Given the description of an element on the screen output the (x, y) to click on. 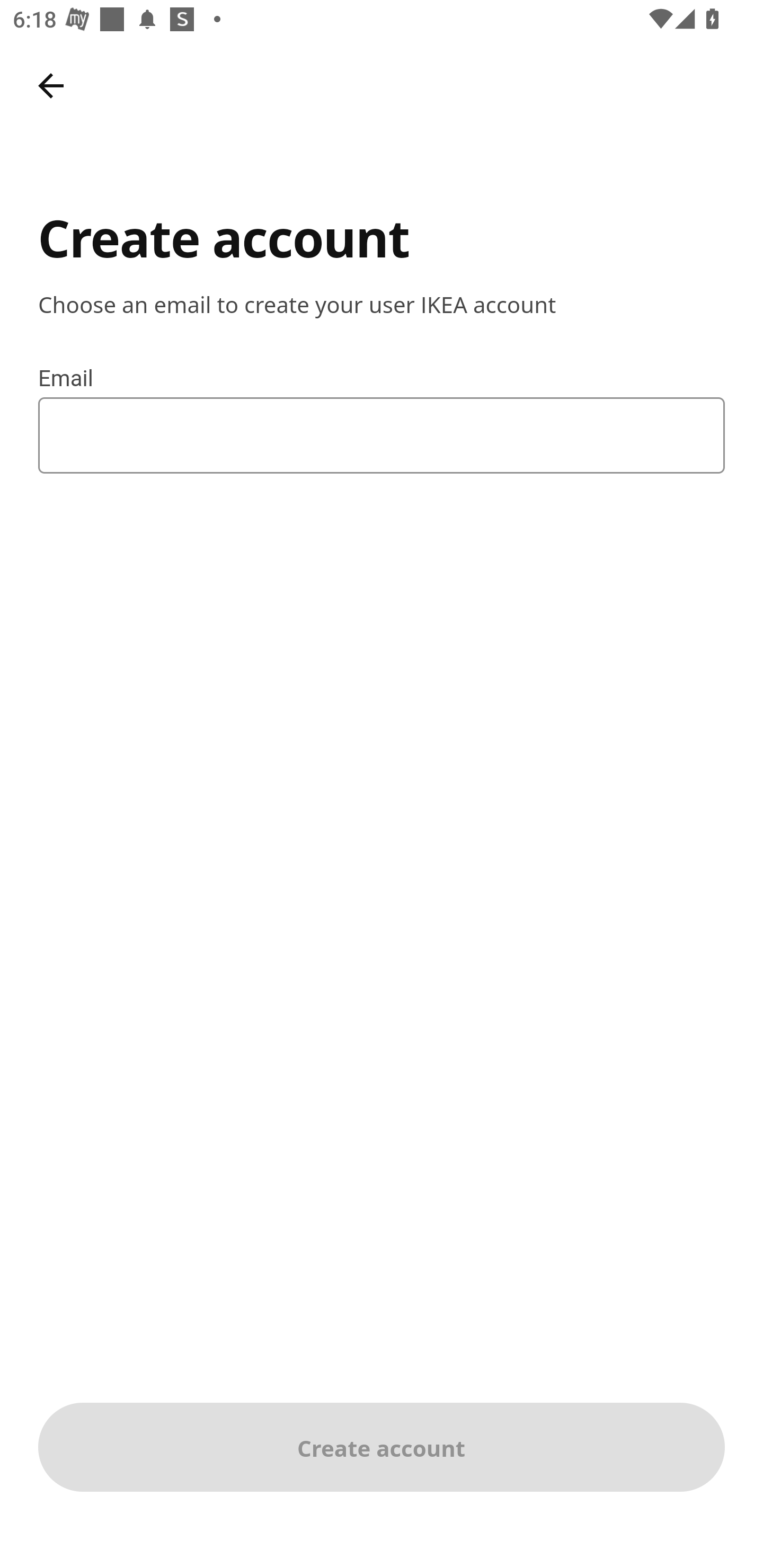
Create account (381, 1447)
